Given the description of an element on the screen output the (x, y) to click on. 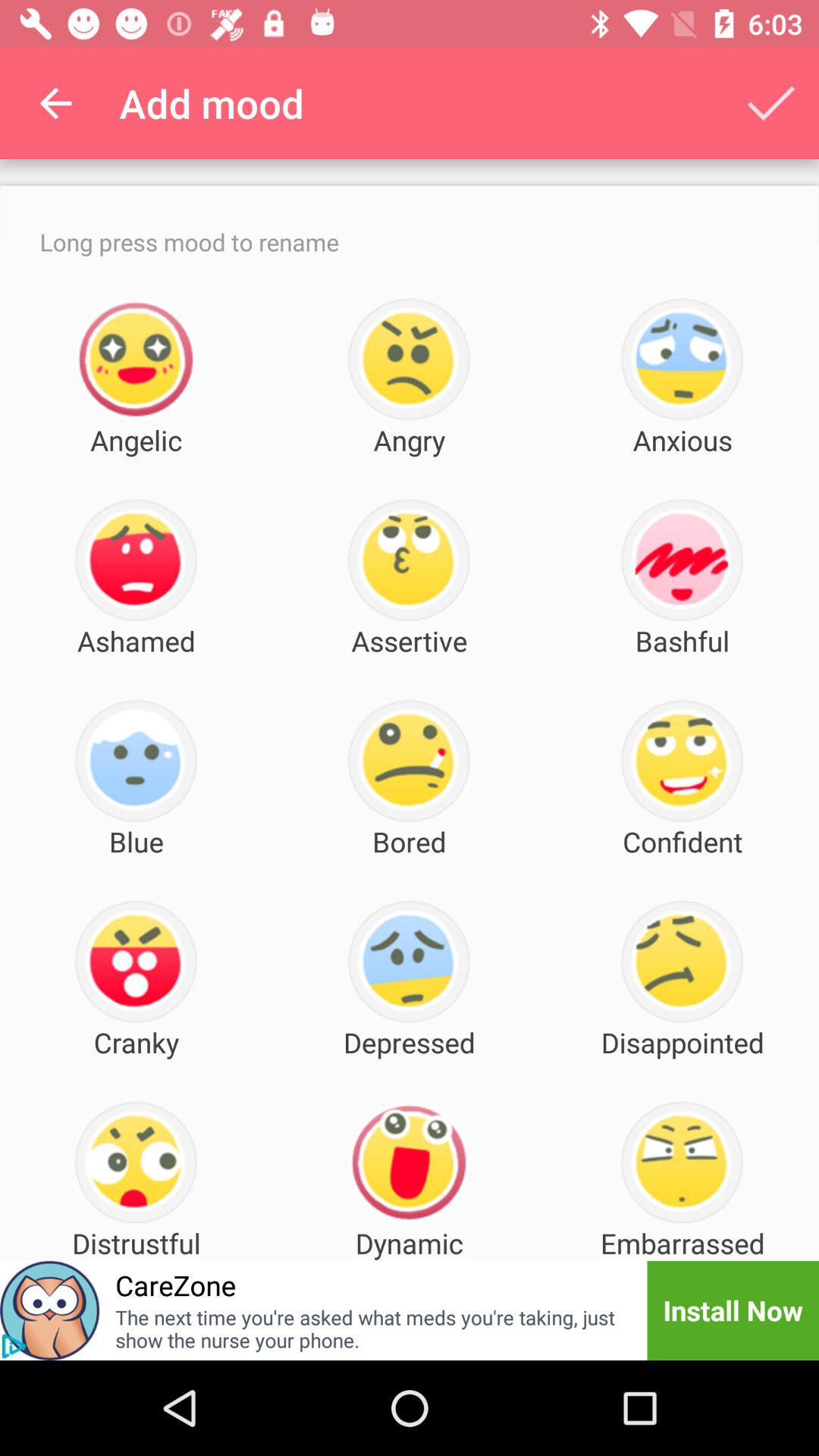
choose the item to the left of dynamic icon (175, 1285)
